Given the description of an element on the screen output the (x, y) to click on. 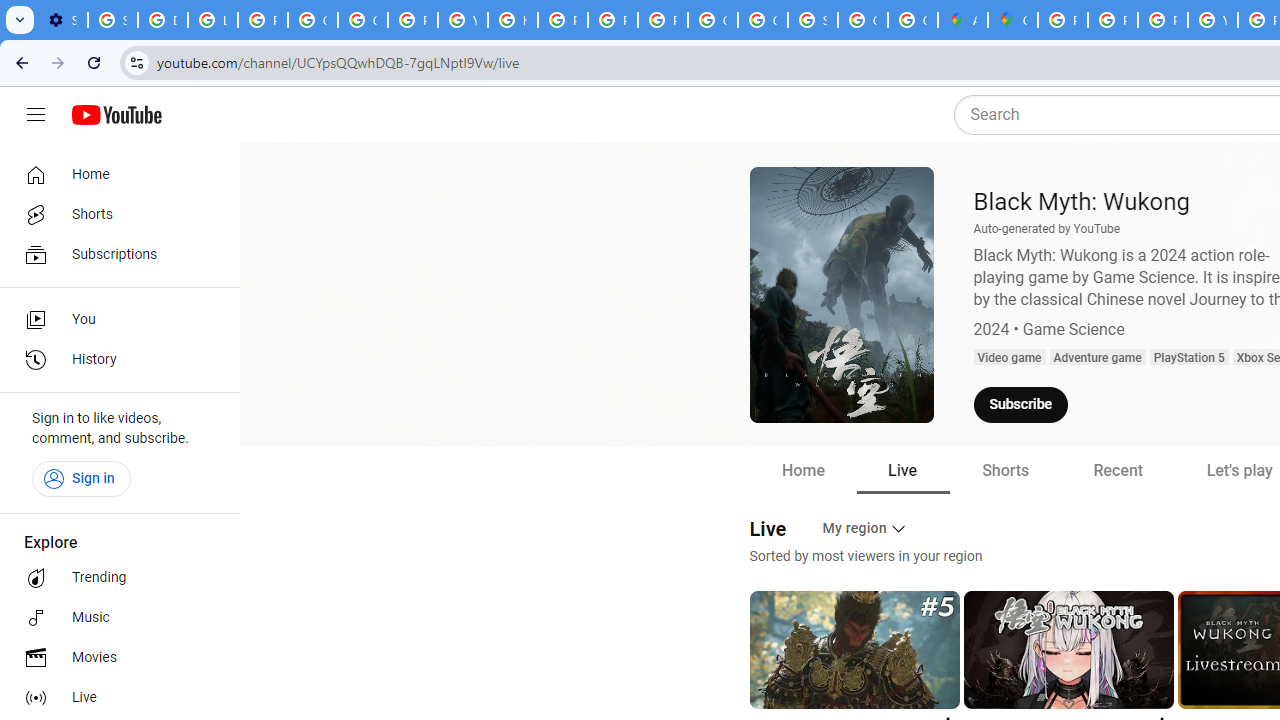
Google Maps (1013, 20)
Create your Google Account (913, 20)
Shorts (1004, 470)
Live (902, 470)
Video game (1008, 358)
